Given the description of an element on the screen output the (x, y) to click on. 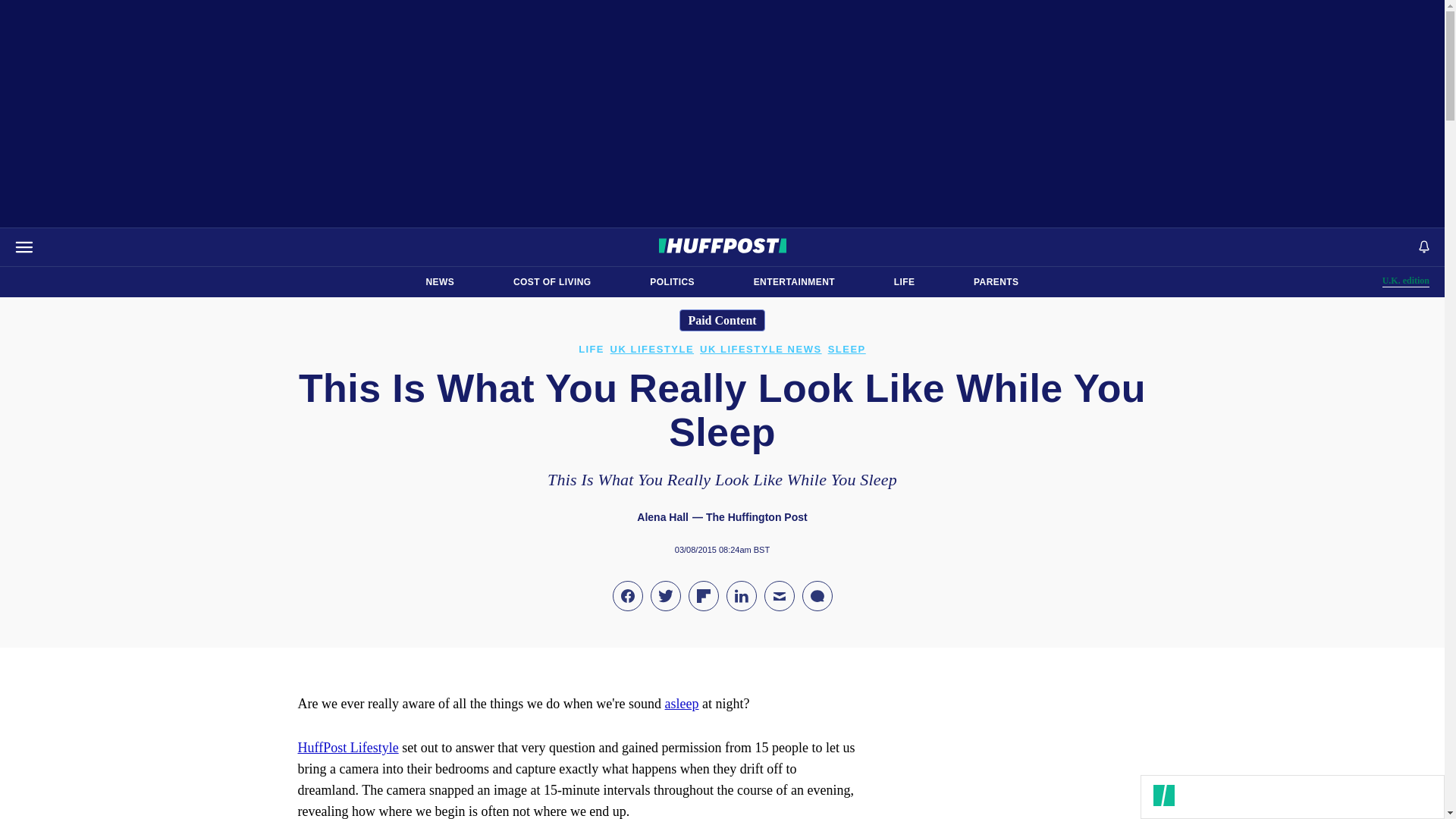
COST OF LIVING (552, 281)
ENTERTAINMENT (1405, 281)
POLITICS (794, 281)
PARENTS (671, 281)
LIFE (995, 281)
NEWS (904, 281)
